Given the description of an element on the screen output the (x, y) to click on. 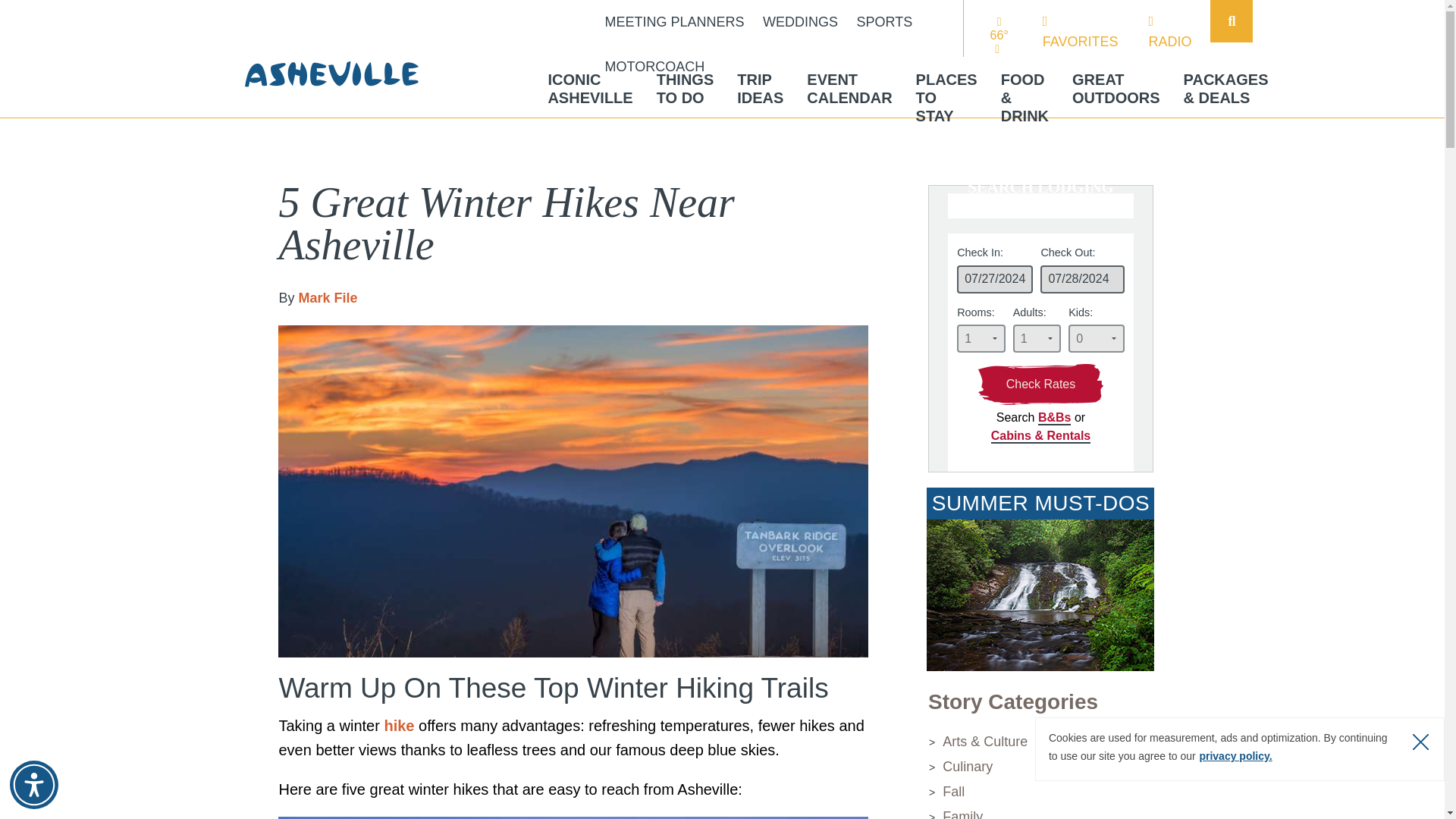
Iconic Asheville (589, 88)
Motorcoach (654, 67)
MOTORCOACH (654, 67)
MEETING PLANNERS (674, 22)
Weddings (800, 22)
RADIO (1169, 31)
Meeting Planners (674, 22)
Accessibility Menu (589, 88)
SPORTS (34, 784)
Sports (884, 22)
WEDDINGS (884, 22)
FAVORITES (800, 22)
